Given the description of an element on the screen output the (x, y) to click on. 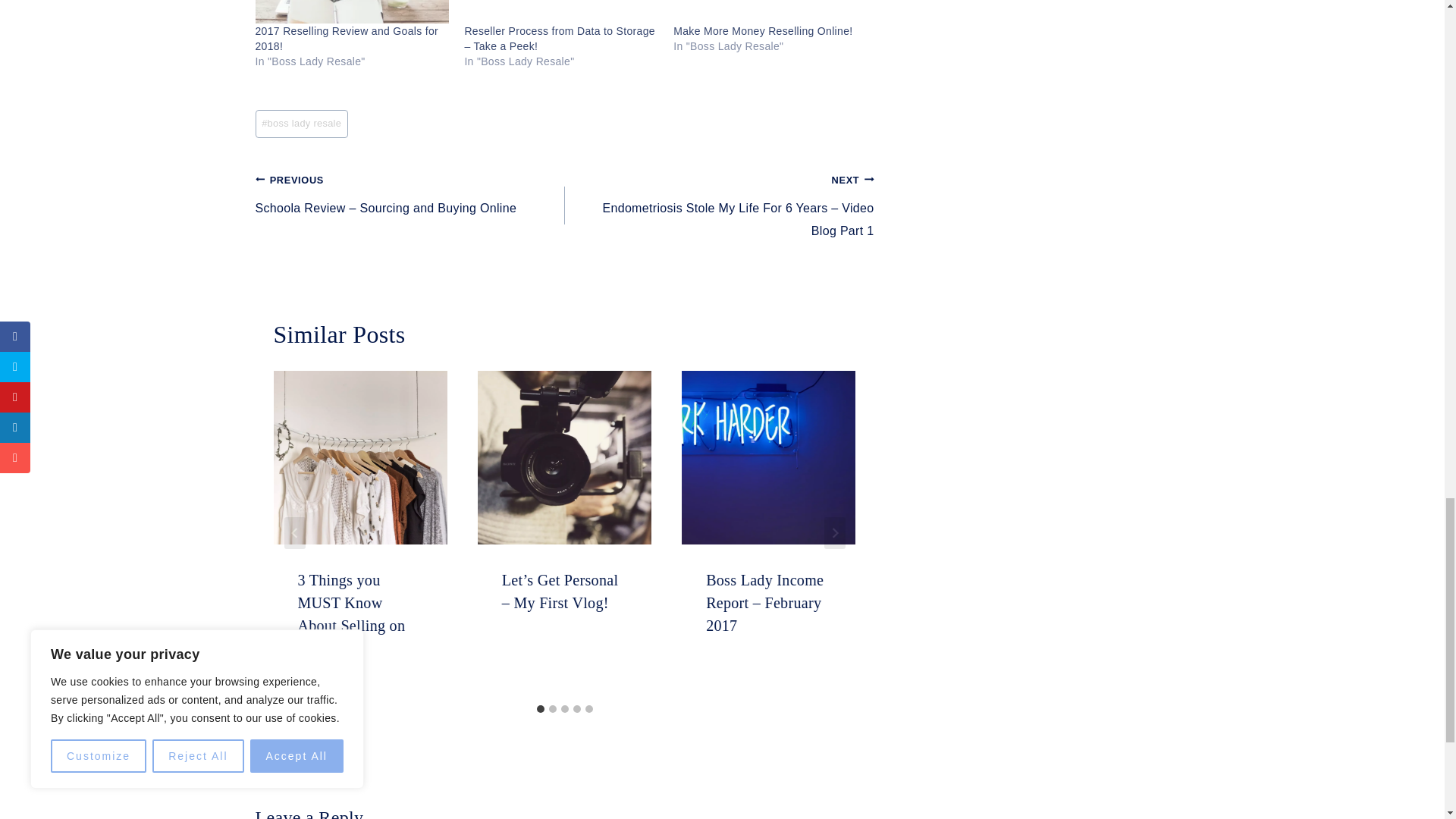
2017 Reselling Review and Goals for 2018! (351, 11)
Make More Money Reselling Online! (769, 11)
Make More Money Reselling Online! (761, 30)
2017 Reselling Review and Goals for 2018! (346, 38)
boss lady resale (300, 123)
